Given the description of an element on the screen output the (x, y) to click on. 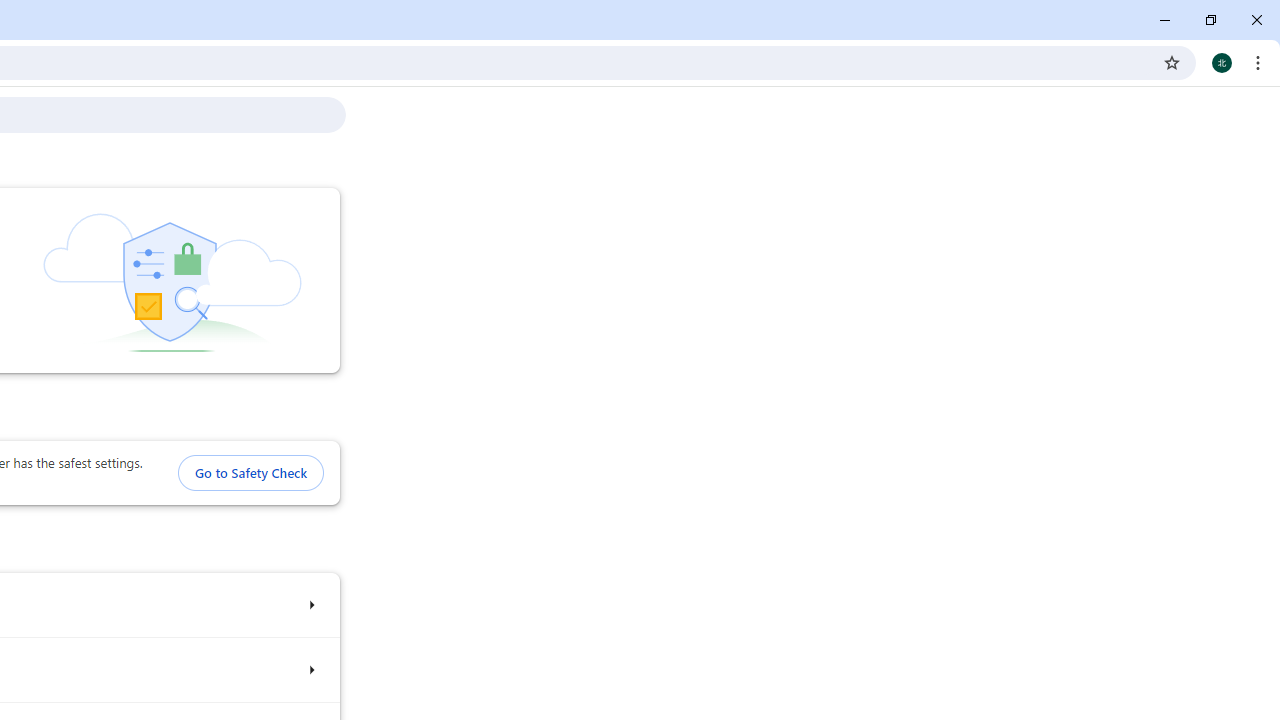
Privacy Guide Review key privacy and security controls (310, 669)
Go to Safety Check (250, 473)
